Given the description of an element on the screen output the (x, y) to click on. 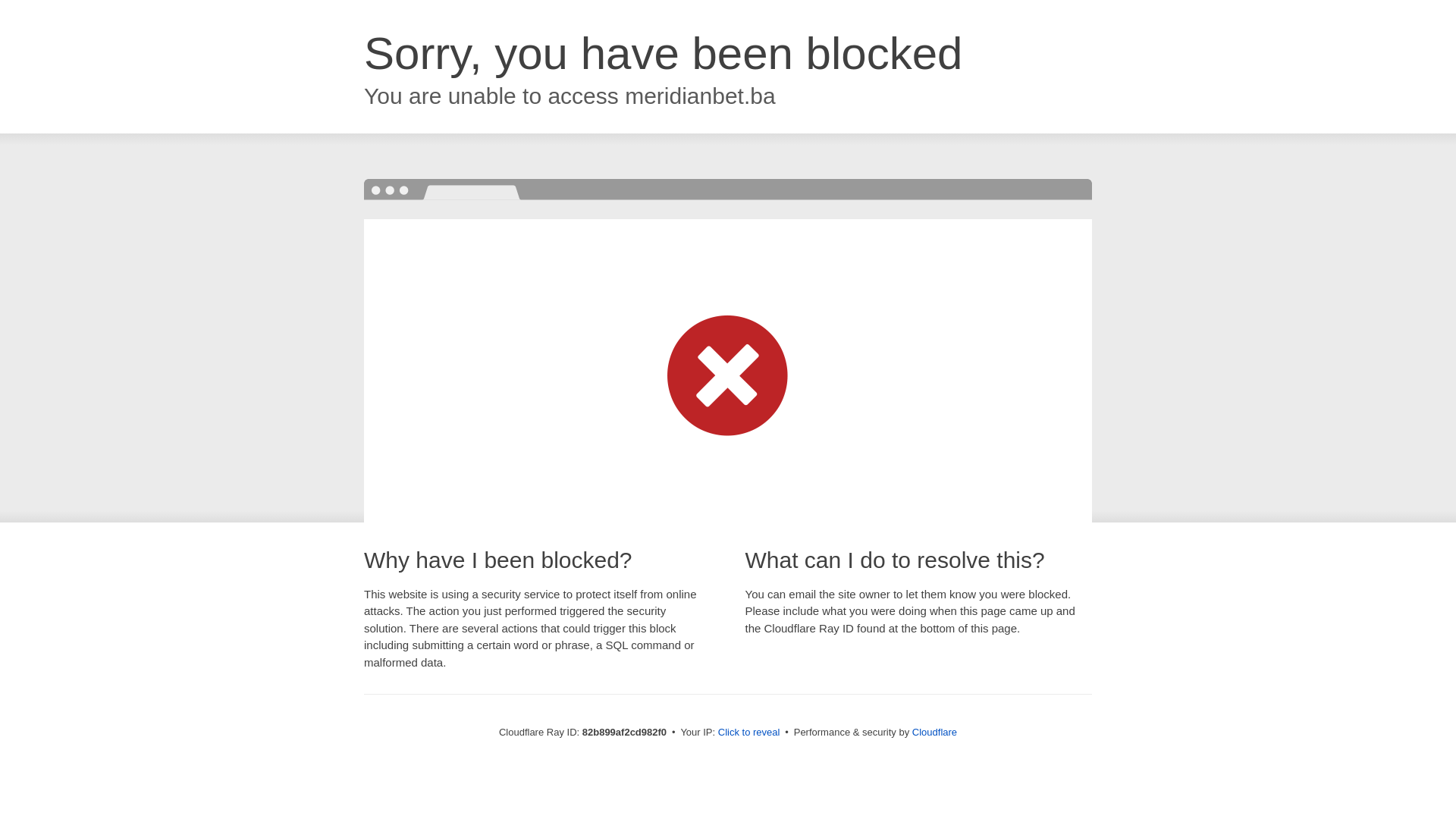
Cloudflare Element type: text (934, 731)
Click to reveal Element type: text (749, 732)
